Given the description of an element on the screen output the (x, y) to click on. 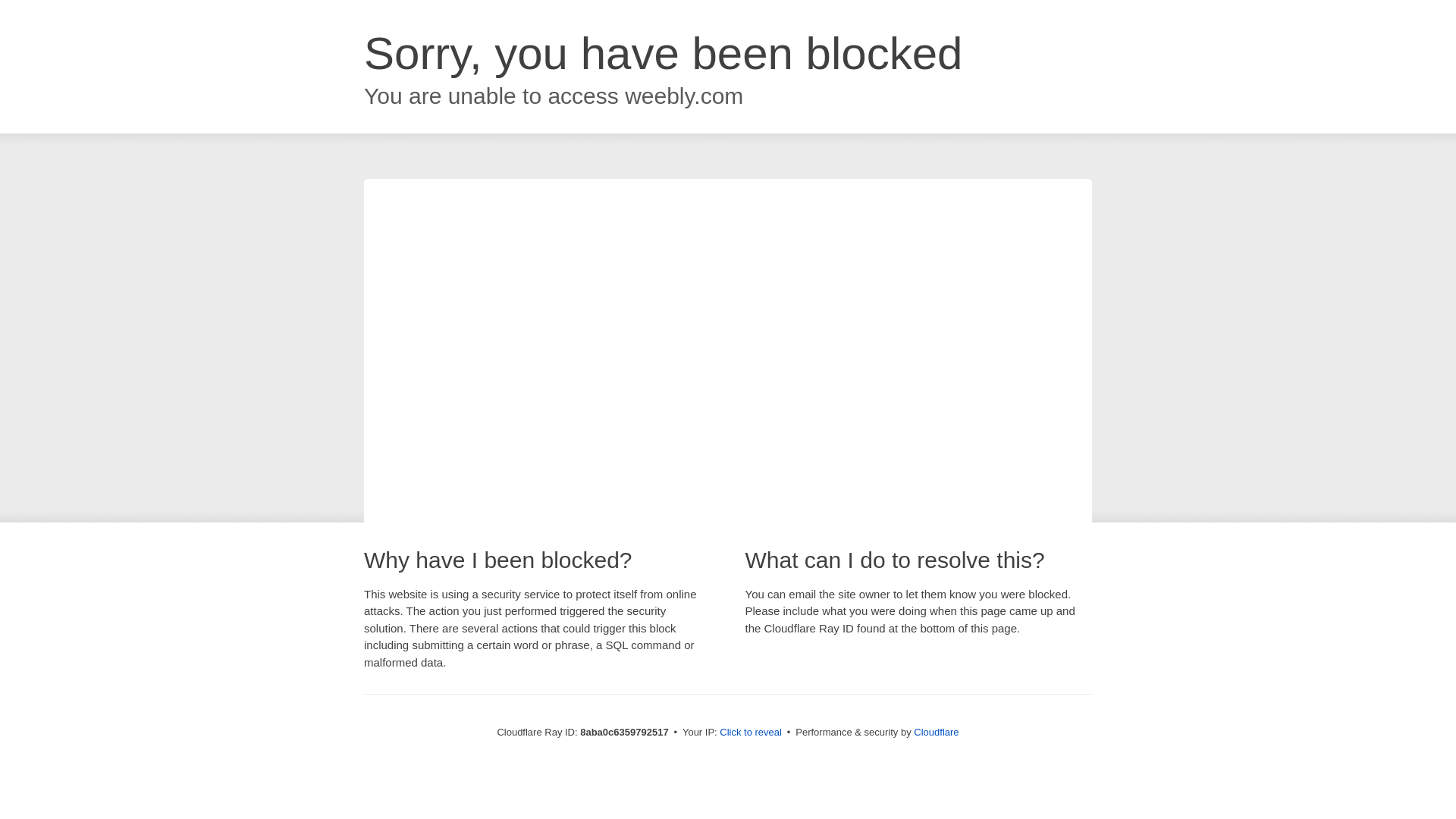
Click to reveal (750, 732)
Cloudflare (936, 731)
